Given the description of an element on the screen output the (x, y) to click on. 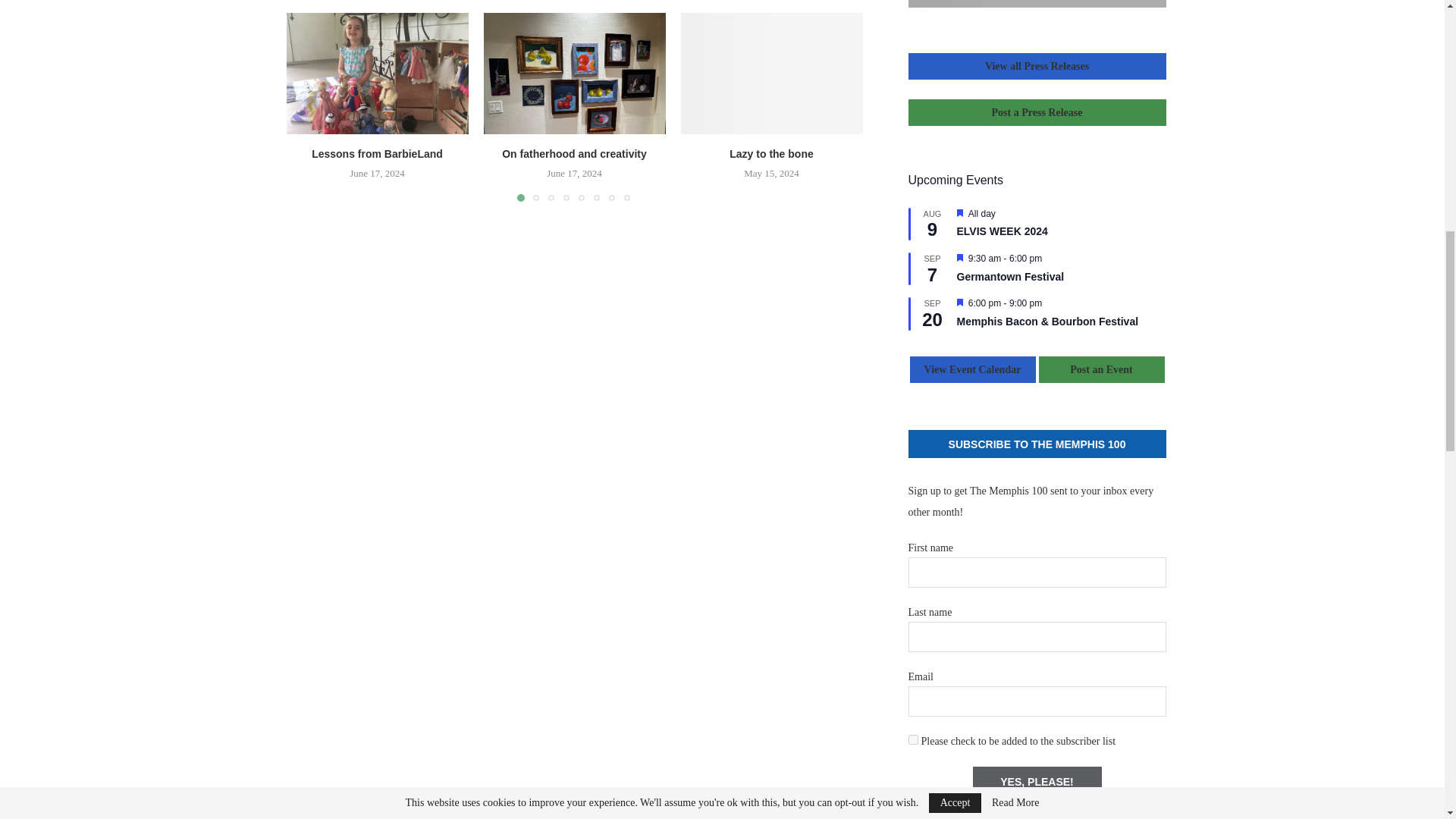
YES, PLEASE! (1036, 781)
1 (913, 739)
